Given the description of an element on the screen output the (x, y) to click on. 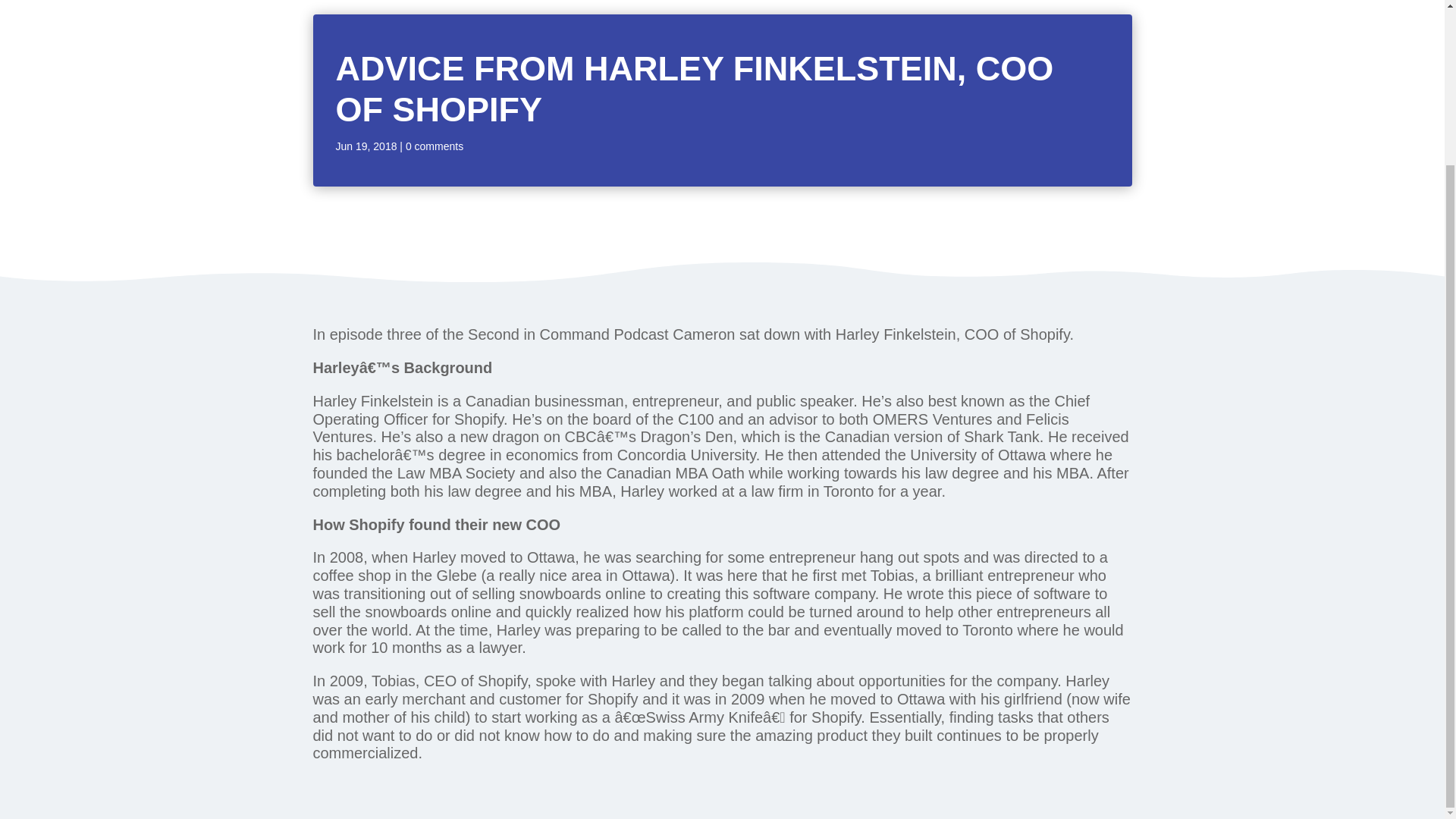
0 comments (434, 146)
